Given the description of an element on the screen output the (x, y) to click on. 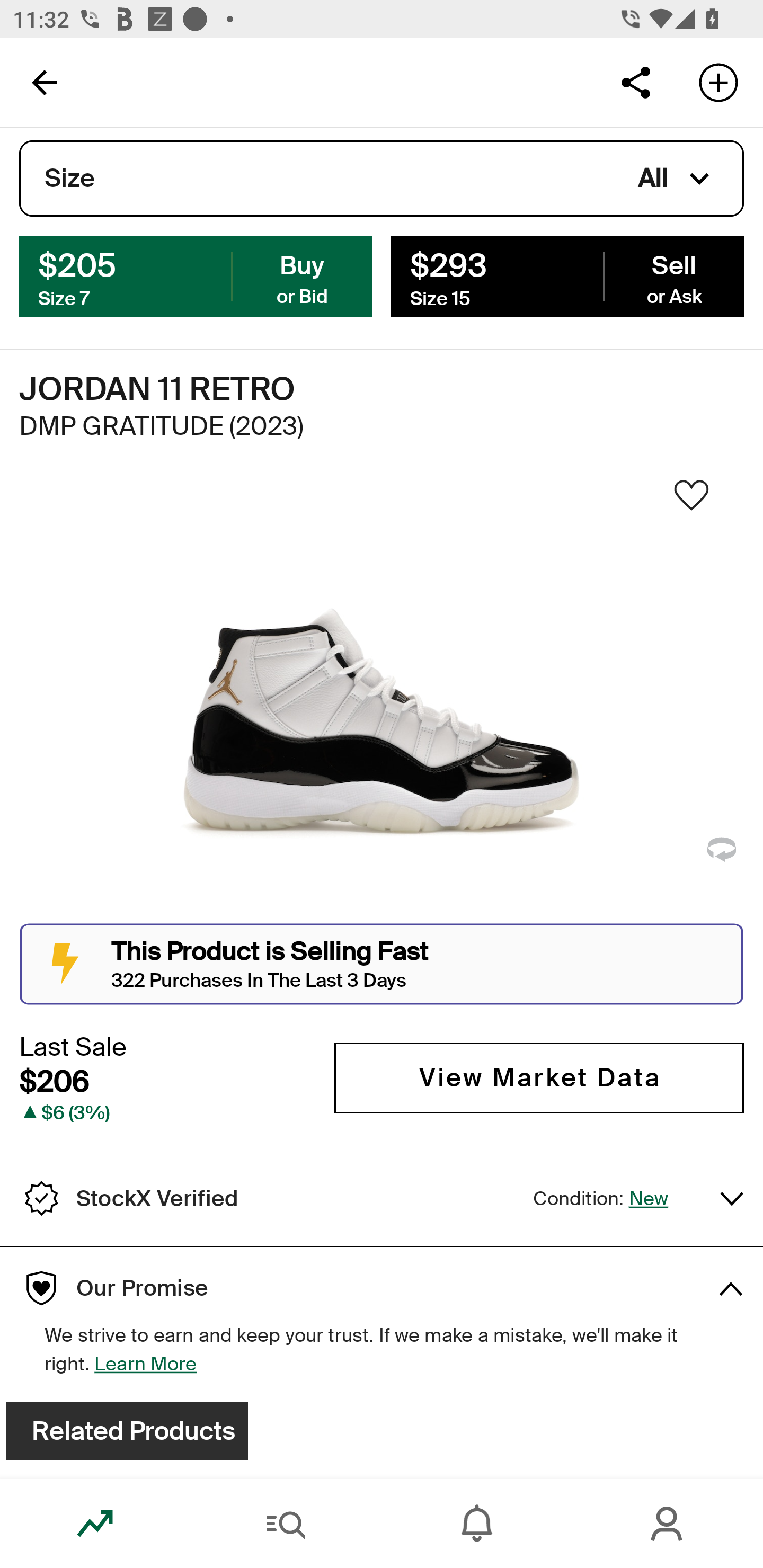
Share (635, 81)
Add (718, 81)
Size All (381, 178)
$205 Buy Size 7 or Bid (195, 275)
$293 Sell Size 15 or Ask (566, 275)
Sneaker Image (381, 699)
View Market Data (538, 1077)
Search (285, 1523)
Inbox (476, 1523)
Account (667, 1523)
